Given the description of an element on the screen output the (x, y) to click on. 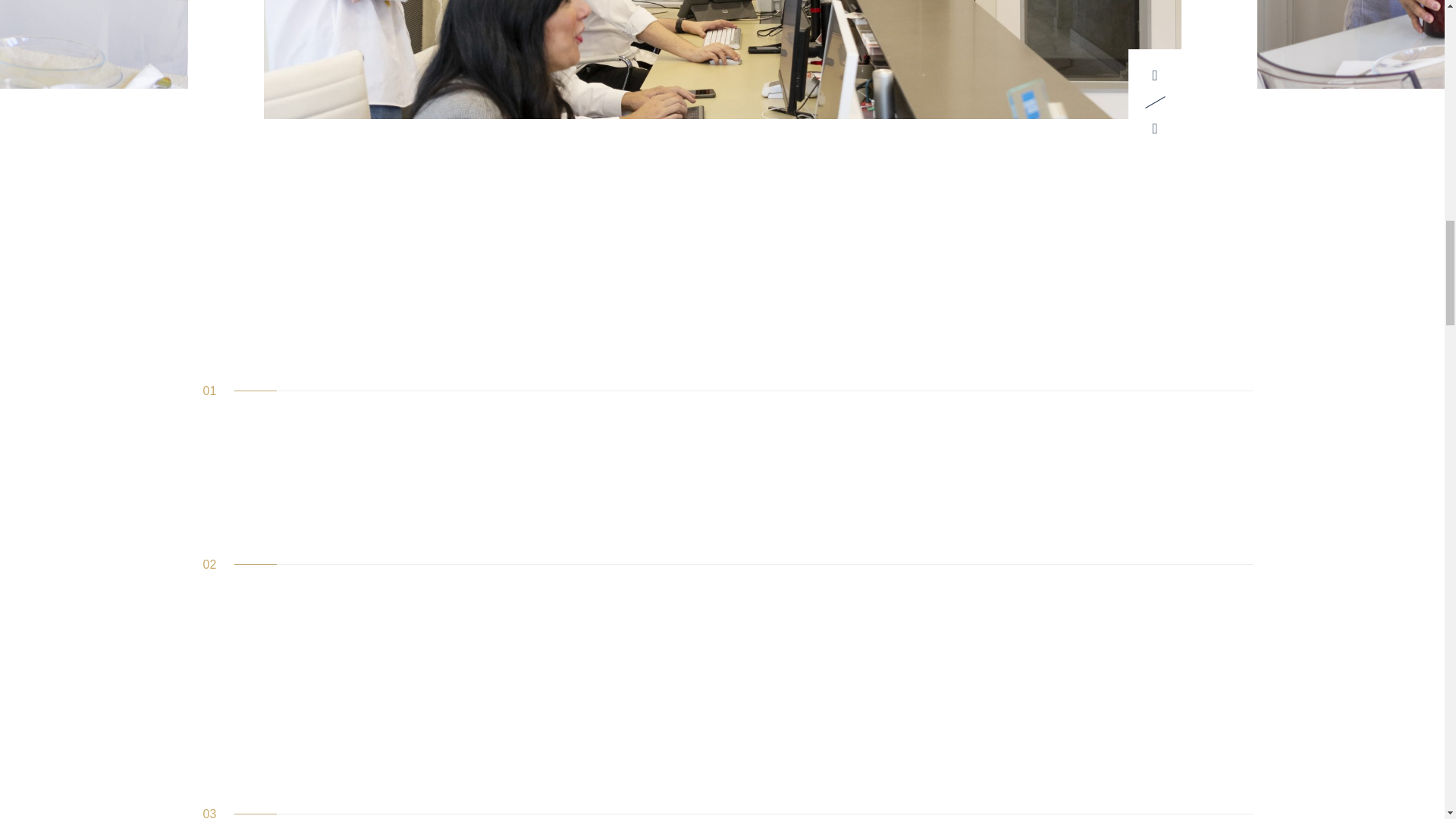
Enter title (1356, 44)
Enter title (721, 59)
Enter title (93, 44)
